Given the description of an element on the screen output the (x, y) to click on. 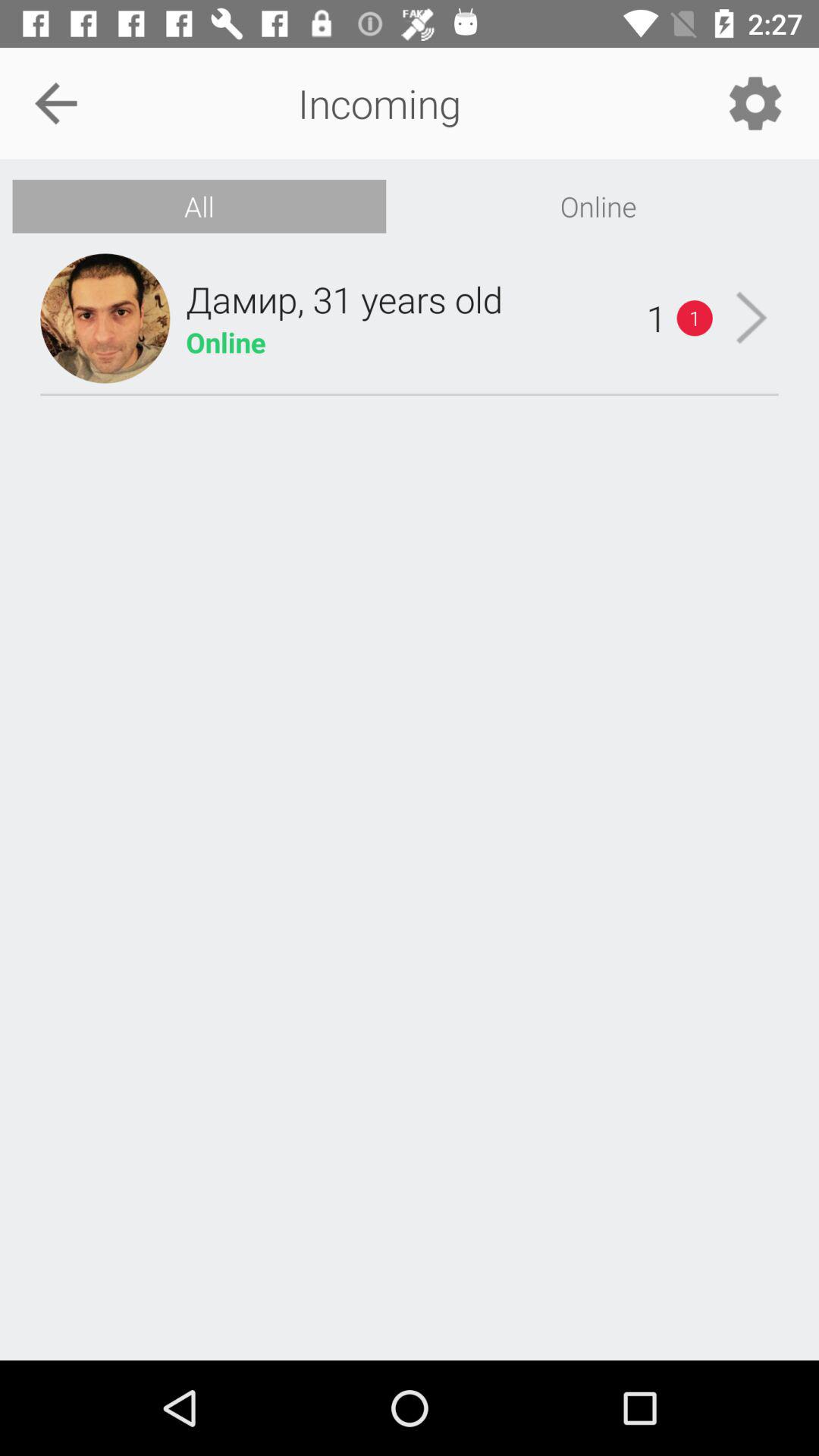
press the item above the online (343, 299)
